Given the description of an element on the screen output the (x, y) to click on. 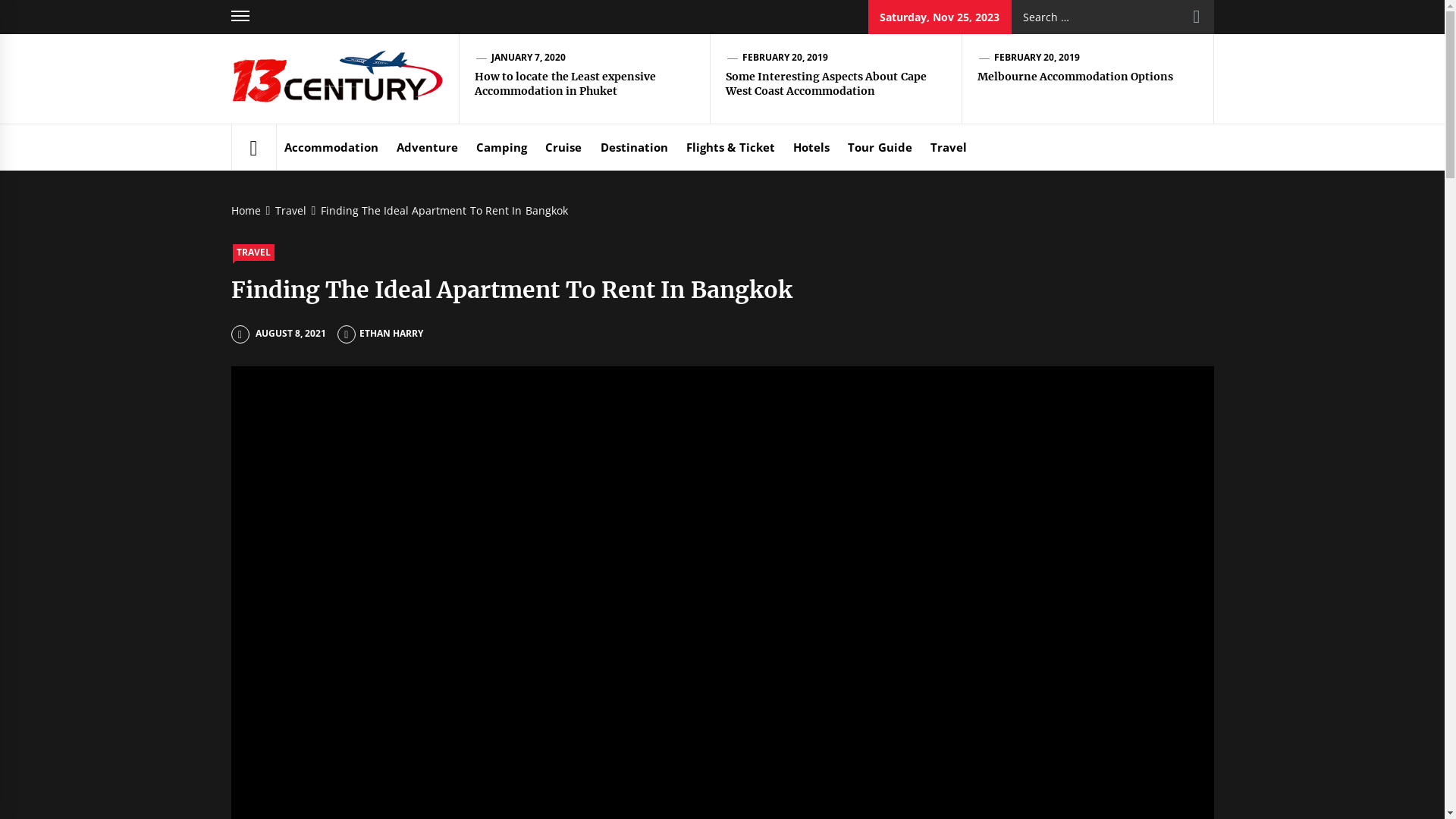
Some Interesting Aspects About Cape West Coast Accommodation Element type: text (825, 83)
FEBRUARY 20, 2019 Element type: text (1037, 56)
Hotels Element type: text (811, 146)
Cruise Element type: text (563, 146)
TRAVEL Element type: text (252, 252)
Melbourne Accommodation Options Element type: text (1075, 76)
Destination Element type: text (634, 146)
Finding The Ideal Apartment To Rent In Bangkok Element type: text (441, 210)
Home Element type: text (247, 210)
Tour Guide Element type: text (879, 146)
Flights & Ticket Element type: text (730, 146)
Accommodation Element type: text (330, 146)
How to locate the Least expensive Accommodation in Phuket Element type: text (565, 83)
Travel Element type: text (287, 210)
Adventure Element type: text (427, 146)
Camping Element type: text (501, 146)
ETHAN HARRY Element type: text (380, 332)
FEBRUARY 20, 2019 Element type: text (785, 56)
AUGUST 8, 2021 Element type: text (278, 332)
Travel Element type: text (948, 146)
Search Element type: text (1196, 17)
JANUARY 7, 2020 Element type: text (528, 56)
